Given the description of an element on the screen output the (x, y) to click on. 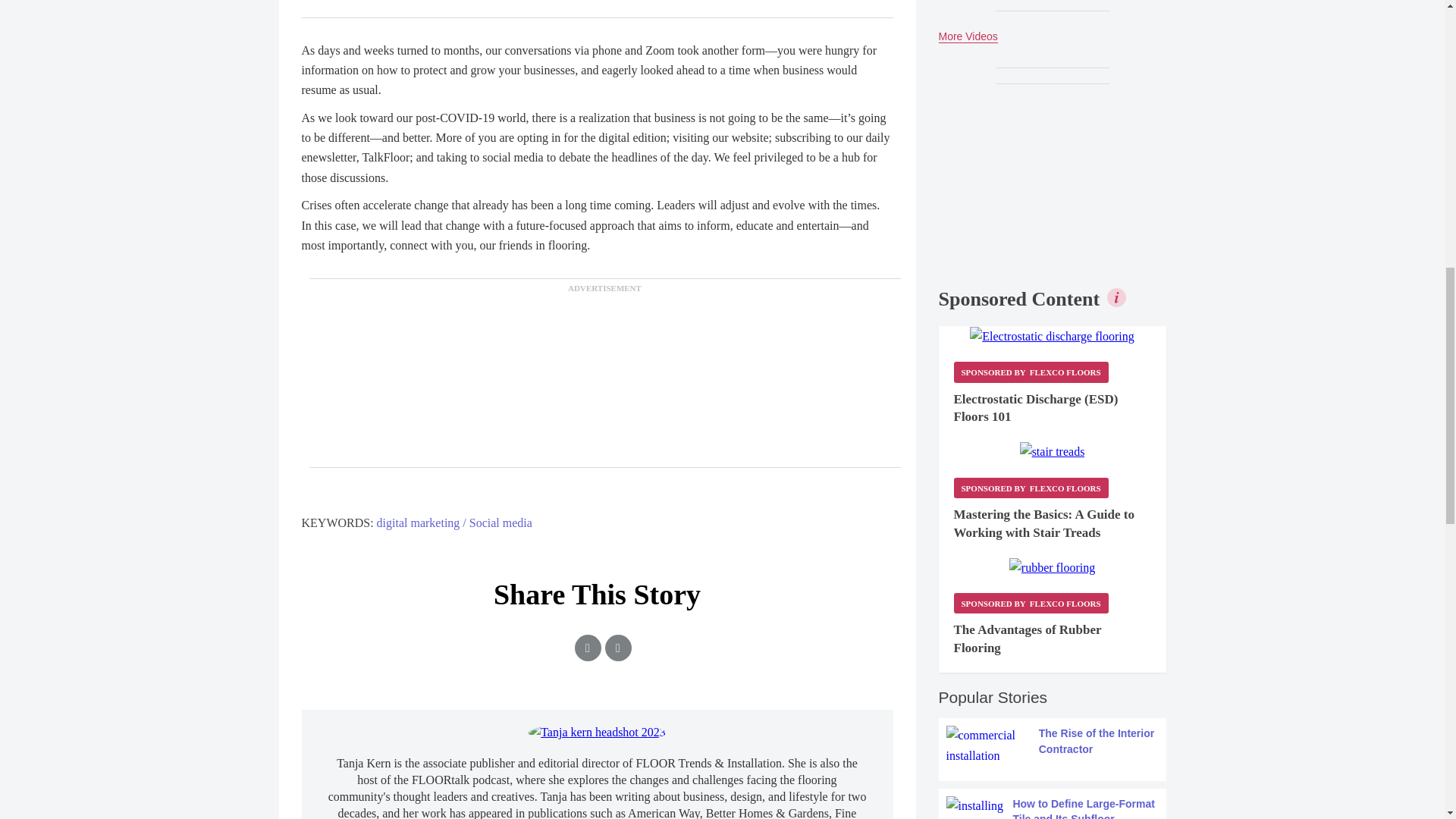
Sponsored by Flexco Floors (1030, 487)
stair treads (1052, 451)
Sponsored by Flexco Floors (1030, 371)
ESD flooring (1051, 336)
rubber flooring (1051, 567)
Sponsored by Flexco Floors (1030, 602)
The Rise of the Interior Contractor (1052, 745)
